Given the description of an element on the screen output the (x, y) to click on. 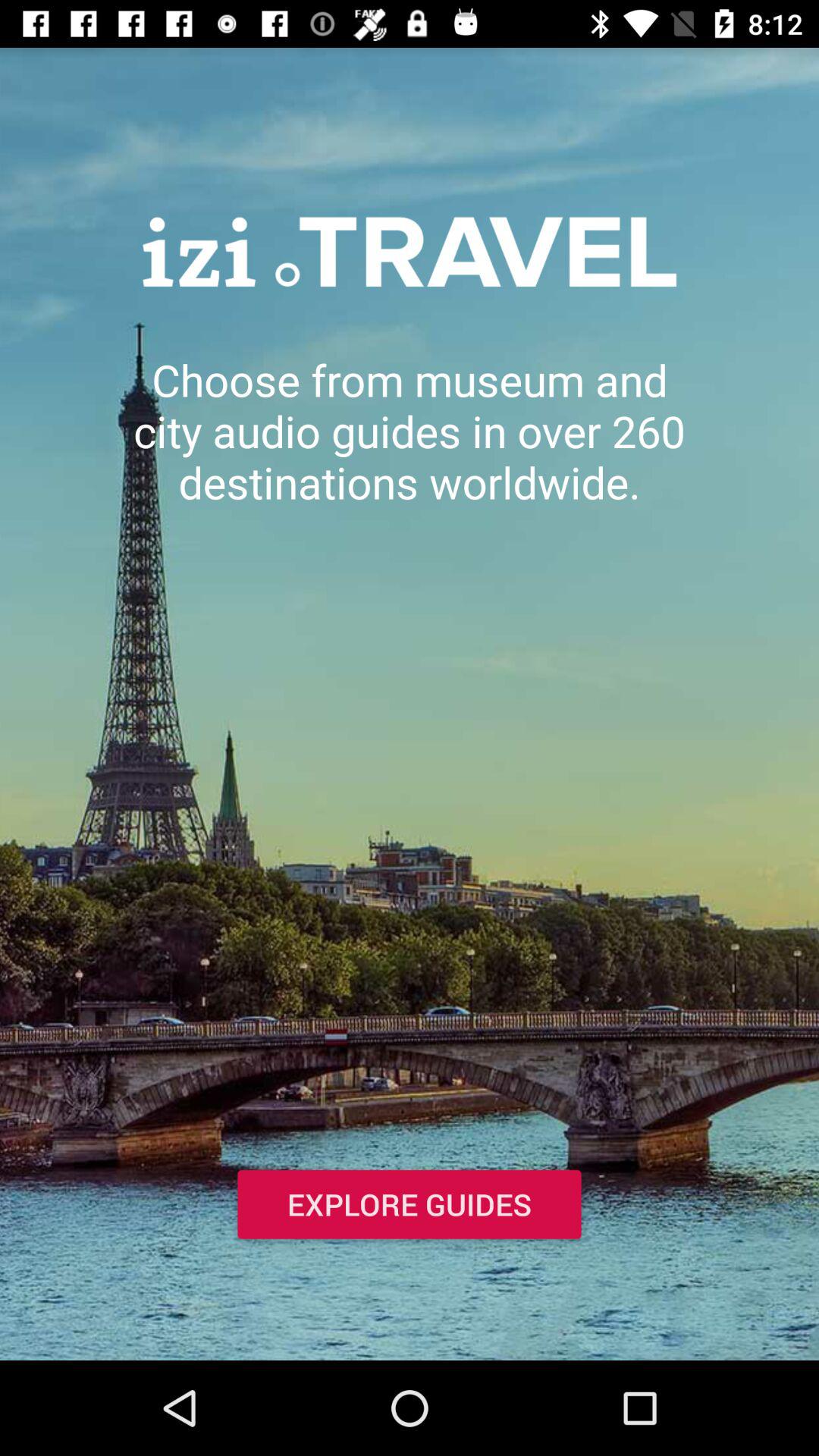
flip to explore guides icon (409, 1206)
